Given the description of an element on the screen output the (x, y) to click on. 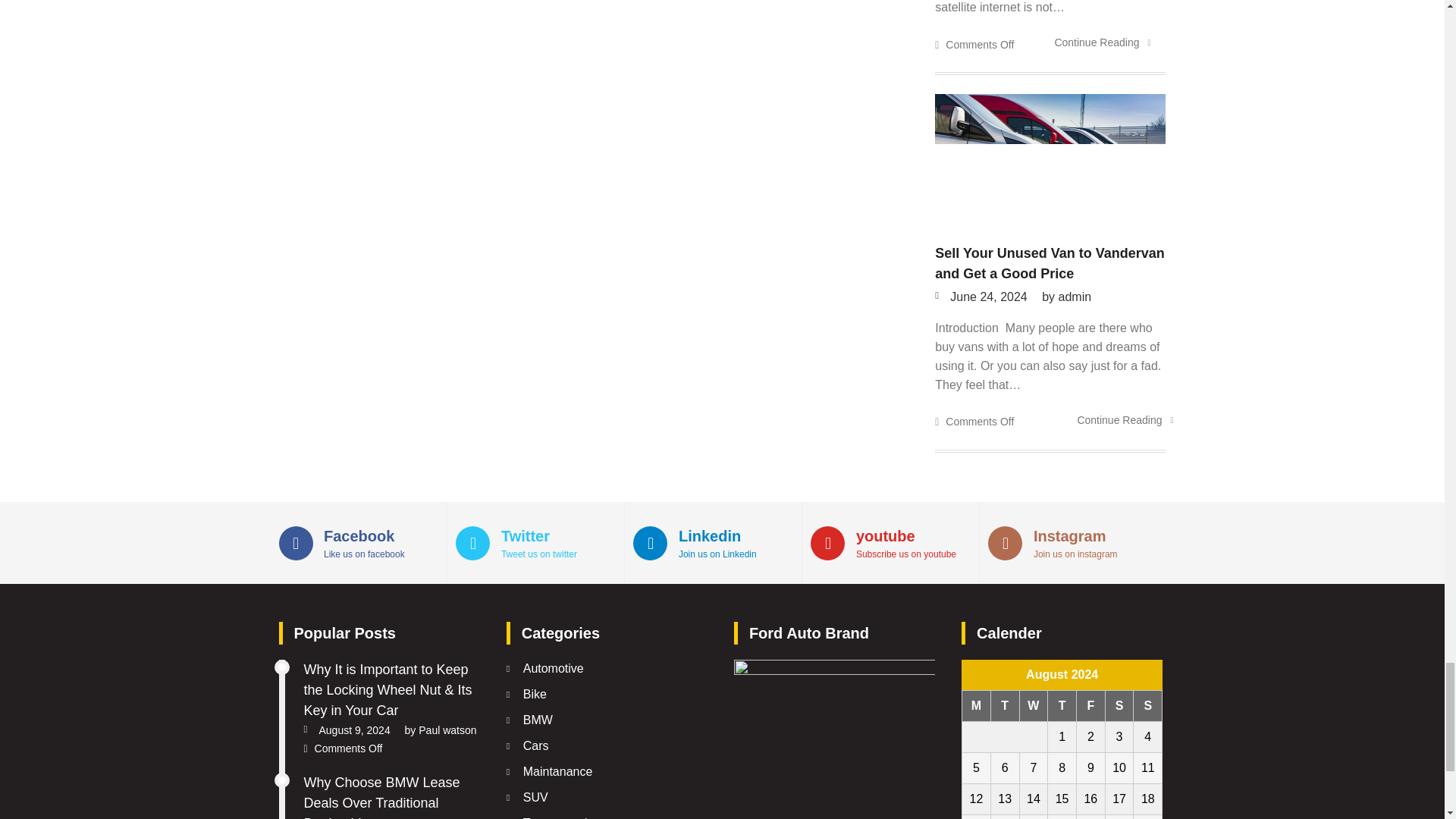
Sunday (1147, 706)
Saturday (1119, 706)
Tuesday (1004, 706)
Wednesday (1033, 706)
Monday (976, 706)
Friday (1090, 706)
Thursday (1062, 706)
